Given the description of an element on the screen output the (x, y) to click on. 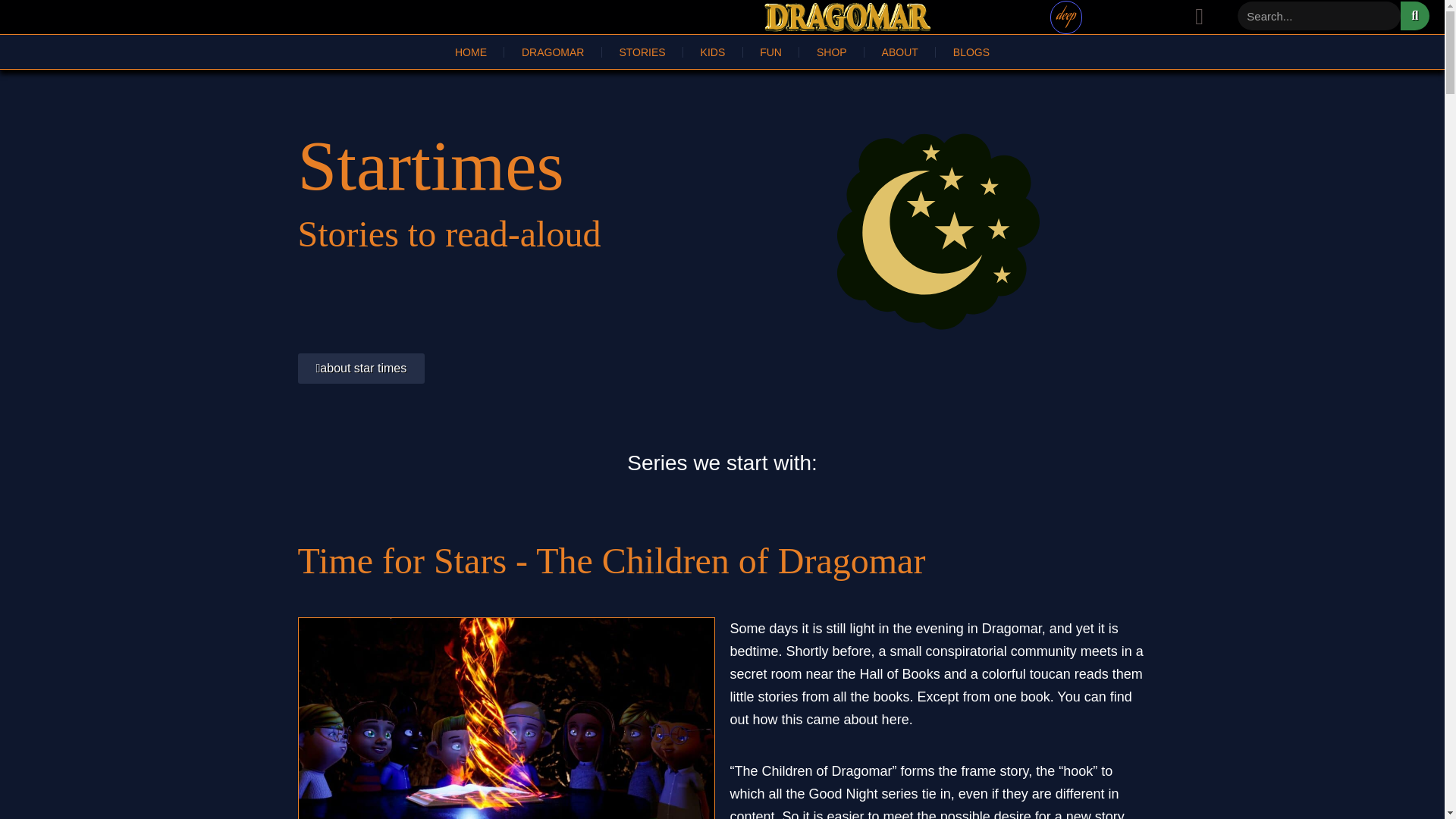
Open Cookie Preferences (32, 799)
ABOUT (899, 51)
DRAGOMAR (551, 51)
STORIES (642, 51)
HOME (470, 51)
about star times (361, 368)
FUN (770, 51)
SHOP (831, 51)
KIDS (712, 51)
BLOGS (971, 51)
